Given the description of an element on the screen output the (x, y) to click on. 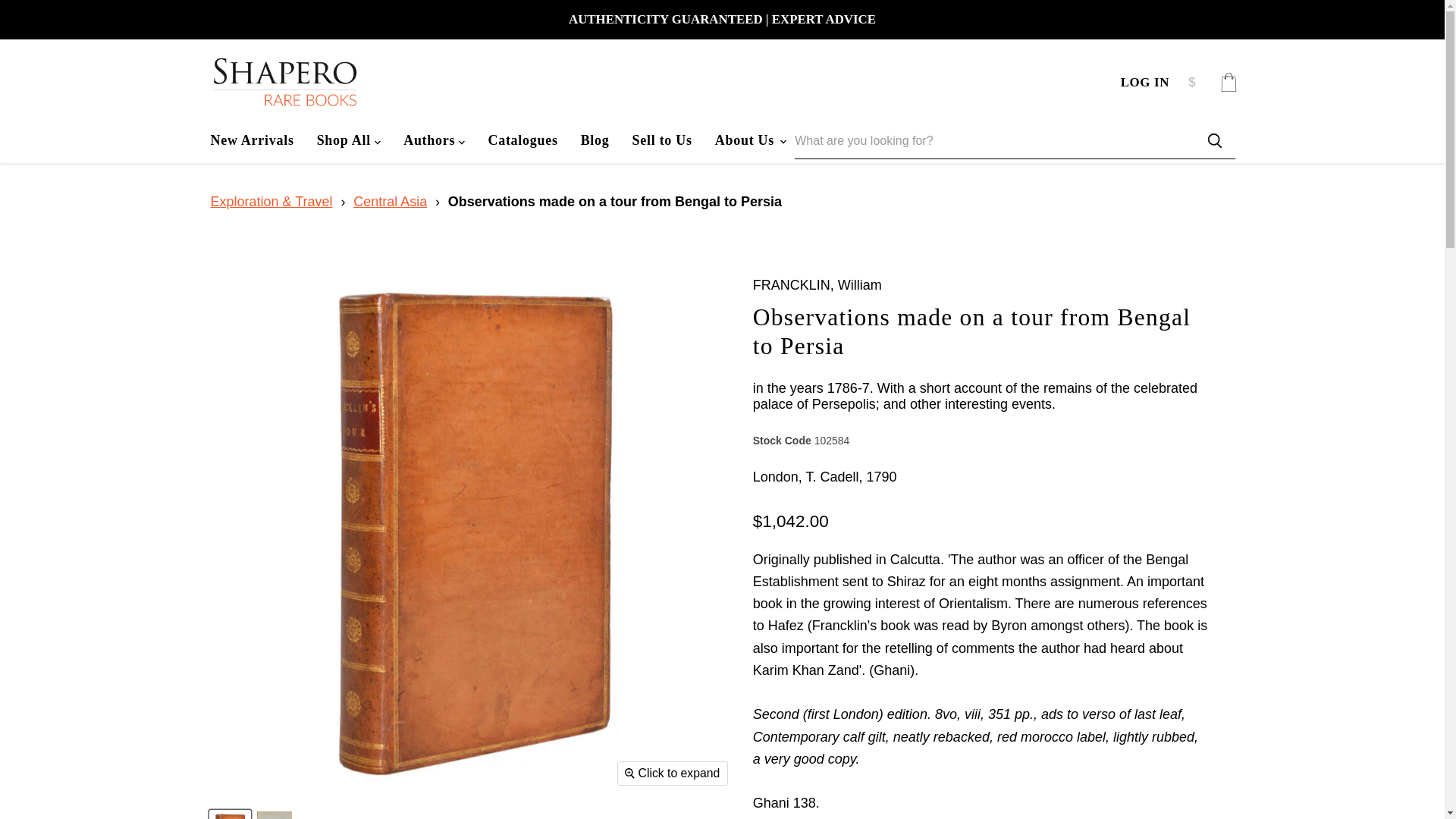
Central Asia (389, 201)
FRANCKLIN, William (817, 284)
View cart (1228, 82)
LOG IN (1144, 82)
New Arrivals (251, 140)
